Given the description of an element on the screen output the (x, y) to click on. 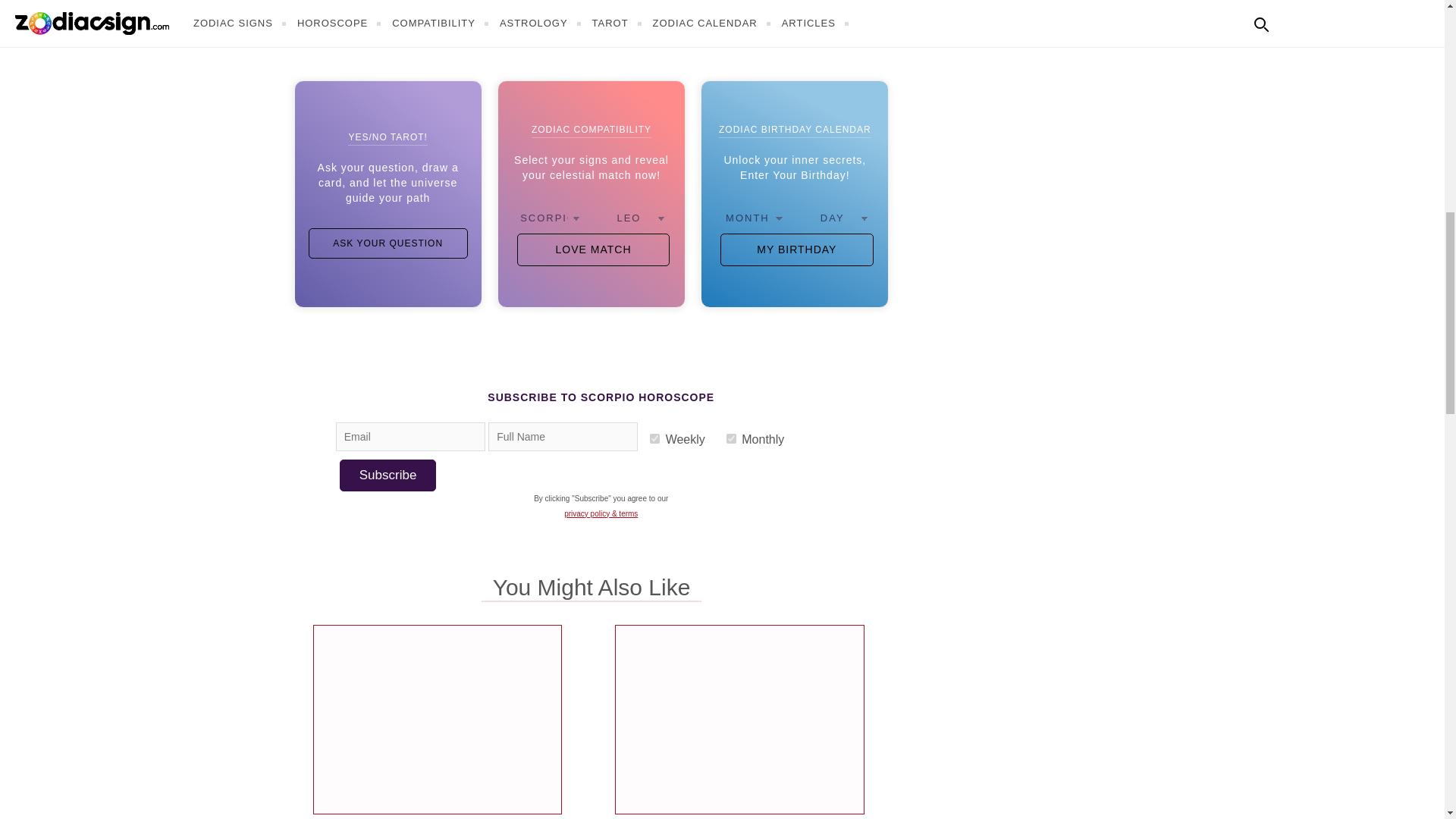
weekly (654, 438)
monthly (731, 438)
